Given the description of an element on the screen output the (x, y) to click on. 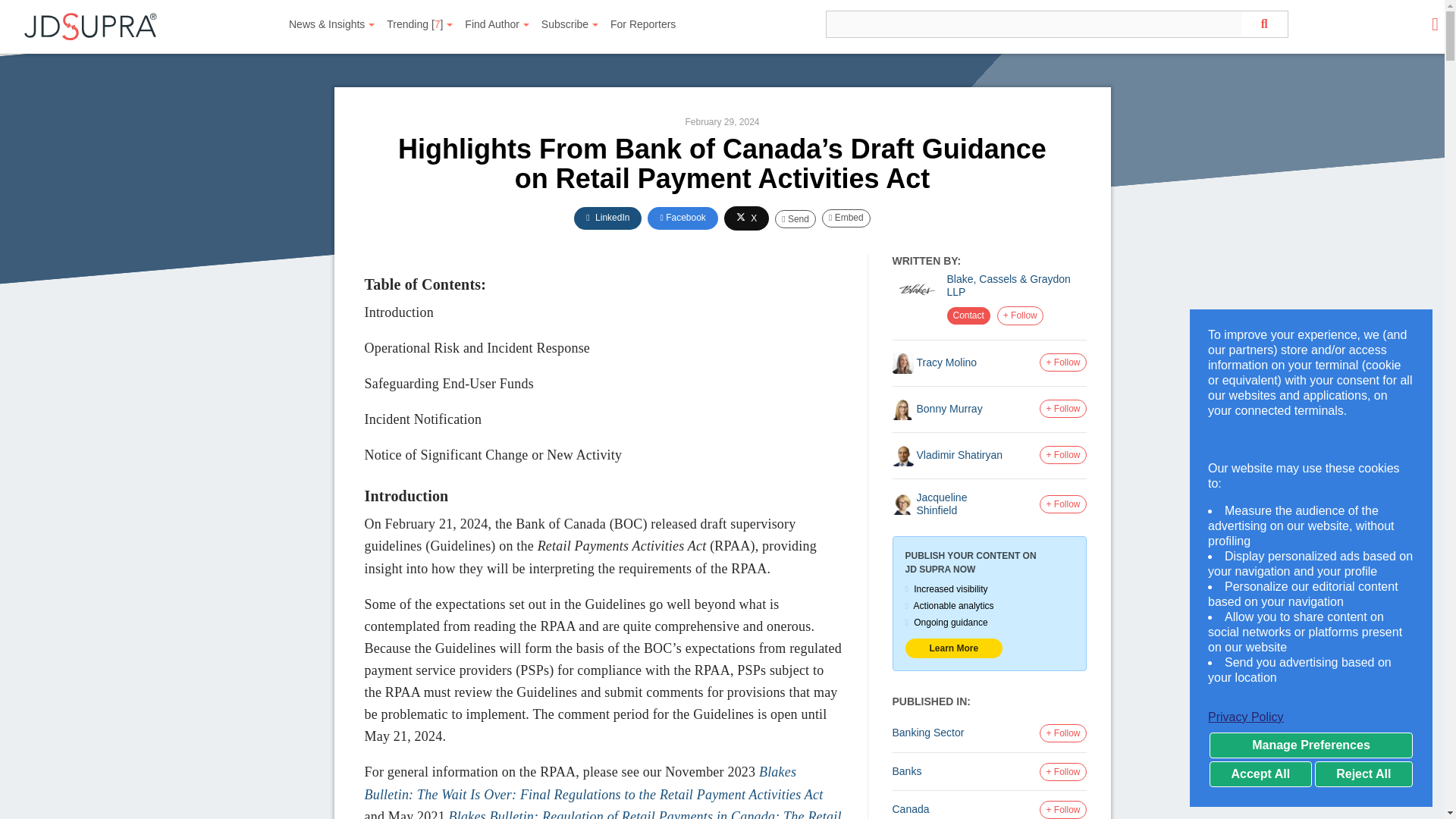
Manage Preferences (1310, 745)
Find Author (496, 23)
Privacy Policy (1310, 717)
Reject All (1363, 774)
Accept All (1260, 774)
